Given the description of an element on the screen output the (x, y) to click on. 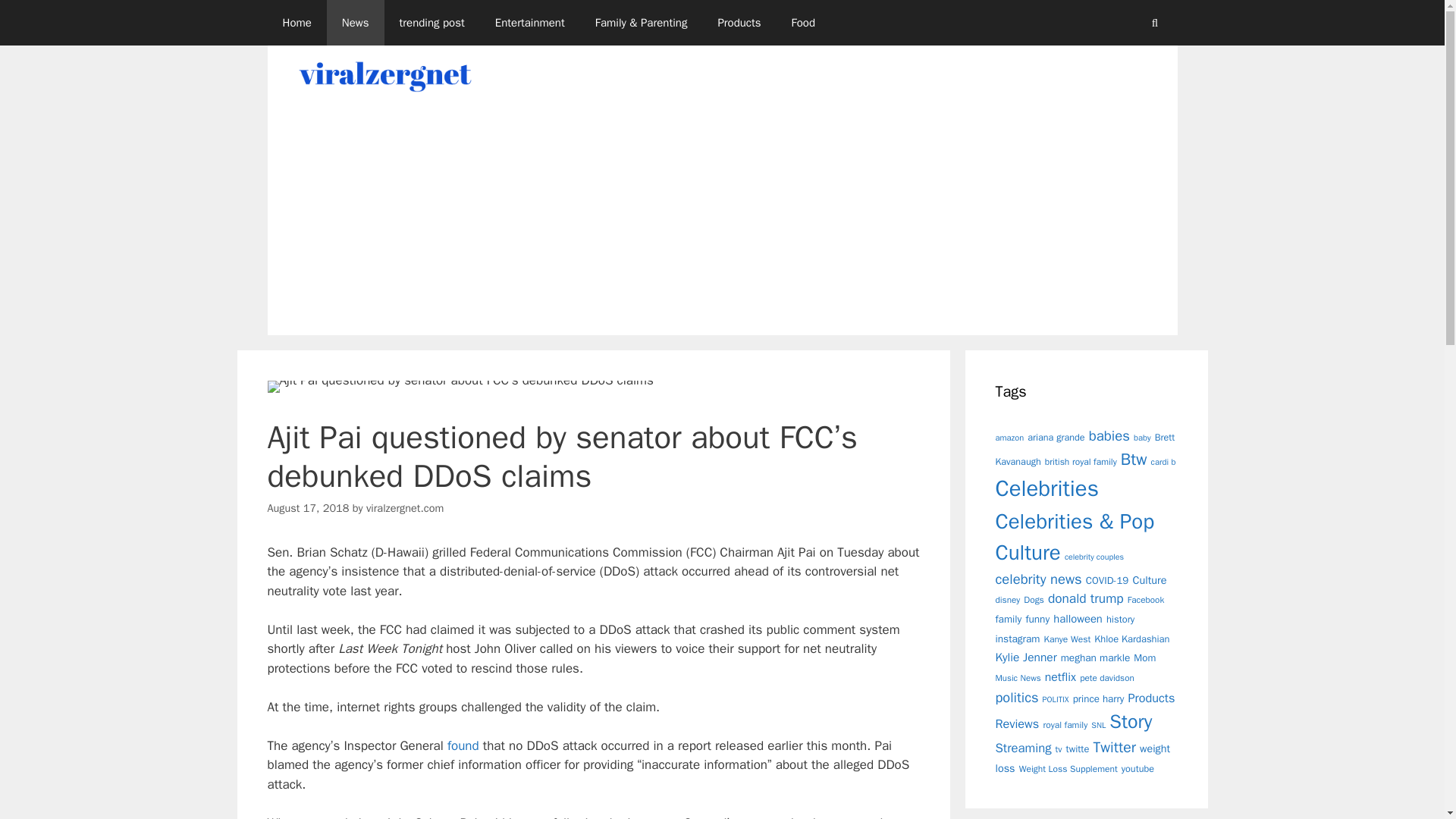
trending post (432, 22)
Home (296, 22)
Food (802, 22)
View all posts by viralzergnet.com (405, 508)
viralzergnet.com (405, 508)
News (355, 22)
Entertainment (529, 22)
Products (738, 22)
found (462, 745)
